Given the description of an element on the screen output the (x, y) to click on. 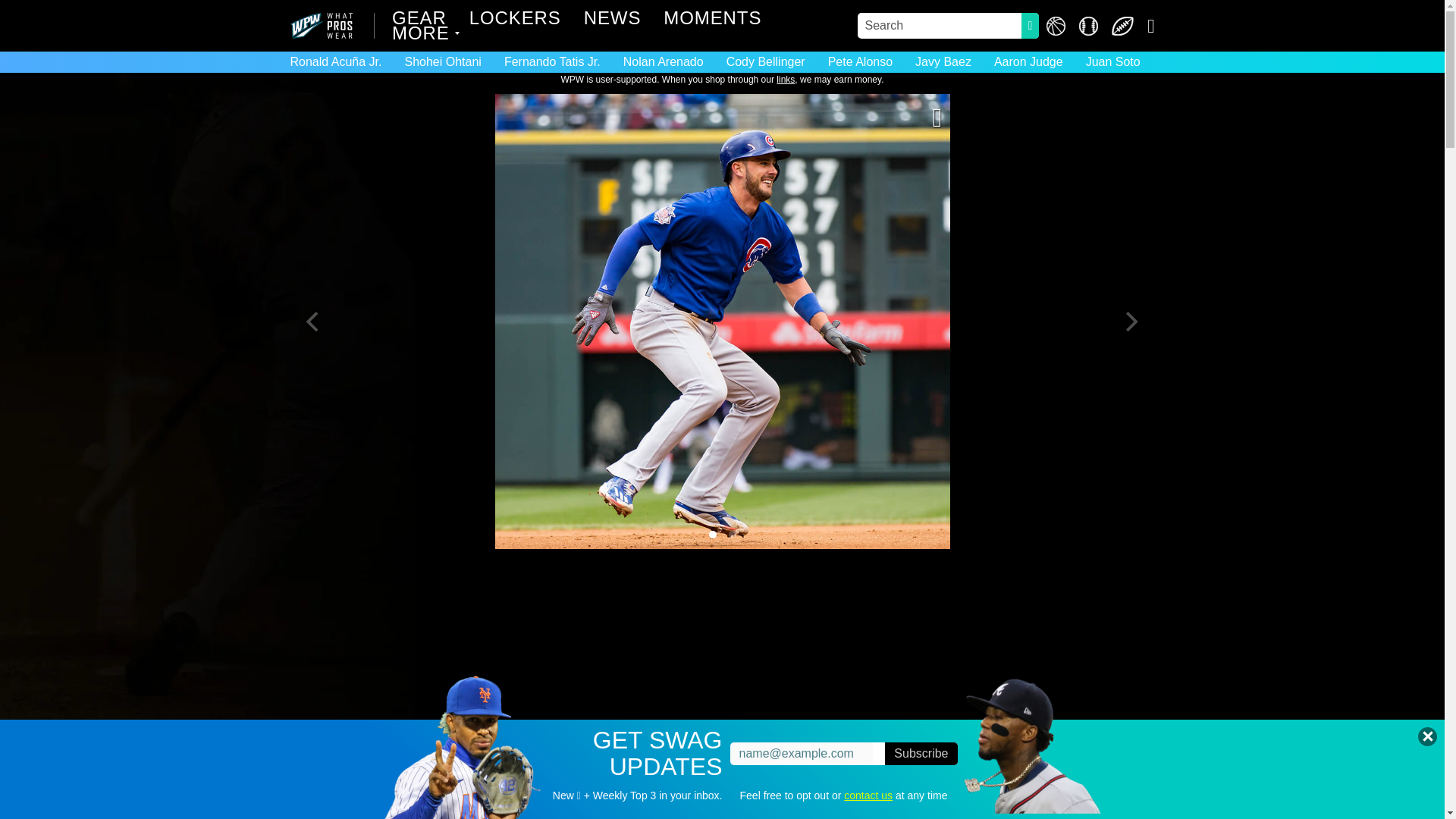
Juan Soto (1112, 60)
GEAR (418, 20)
Lockers (514, 20)
Shohei Ohtani (442, 60)
Subscribe (920, 753)
LOCKERS (514, 20)
Fernando Tatis Jr. (552, 60)
Pete Alonso (860, 60)
More (421, 35)
MOMENTS (712, 20)
NEWS (612, 20)
3rd party ad content (721, 666)
Aaron Judge (1028, 60)
Javy Baez (943, 60)
Cody Bellinger (765, 60)
